Given the description of an element on the screen output the (x, y) to click on. 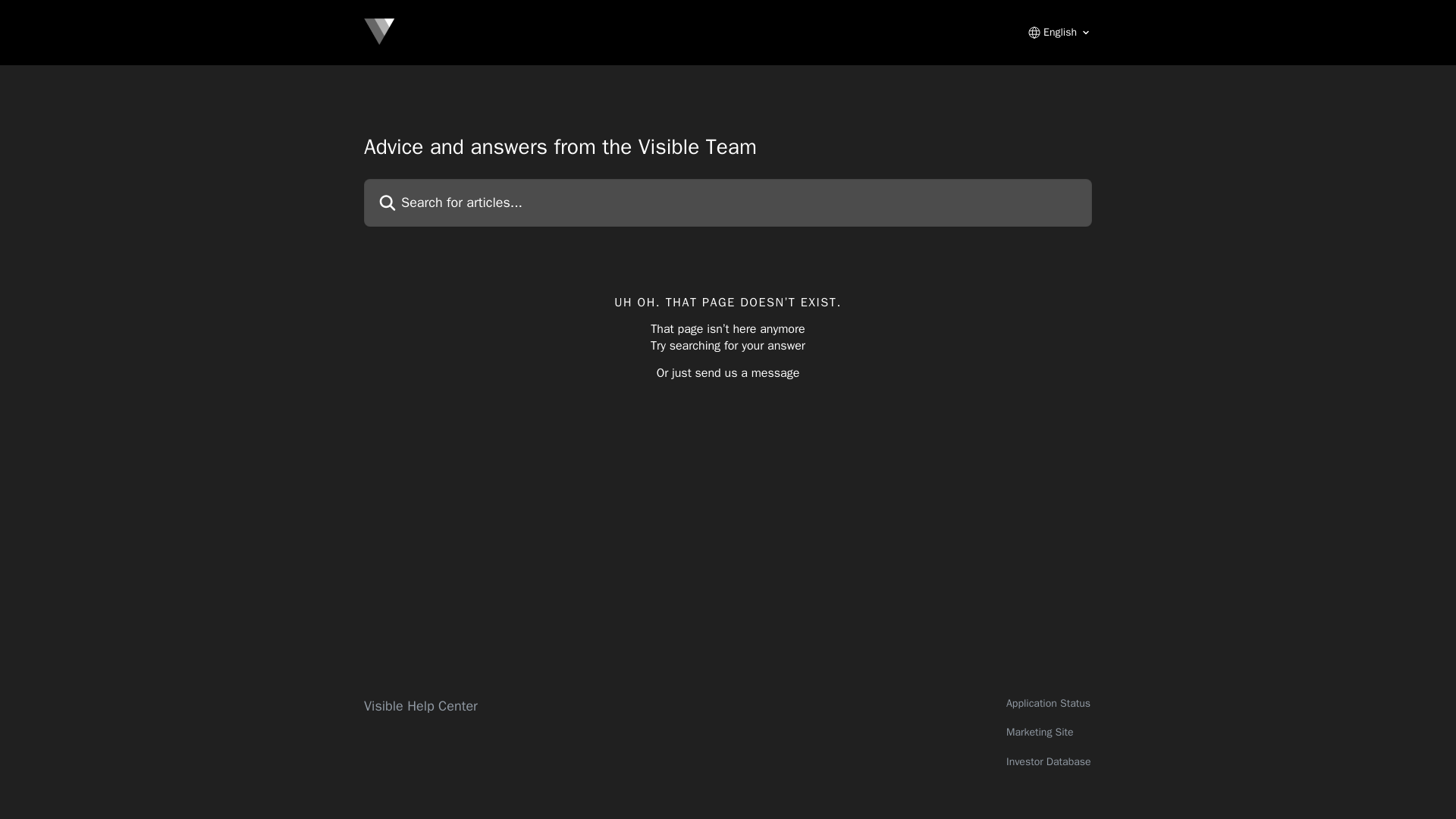
Application Status (1048, 703)
Marketing Site (1040, 731)
Visible Help Center (420, 705)
Investor Database (1048, 761)
